Given the description of an element on the screen output the (x, y) to click on. 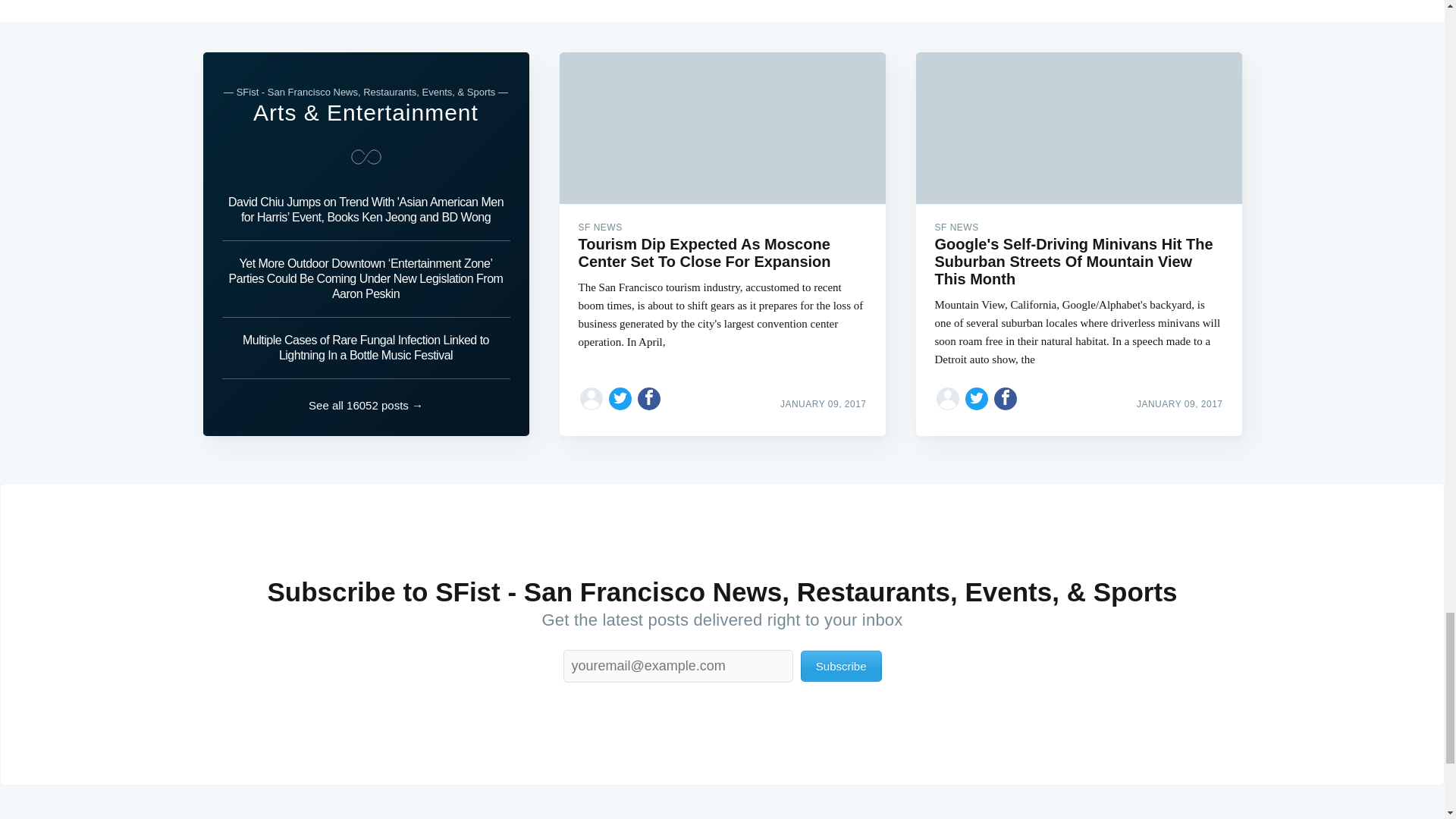
Share on Facebook (1004, 398)
Share on Twitter (620, 398)
Share on Twitter (976, 398)
Share on Facebook (649, 398)
